Given the description of an element on the screen output the (x, y) to click on. 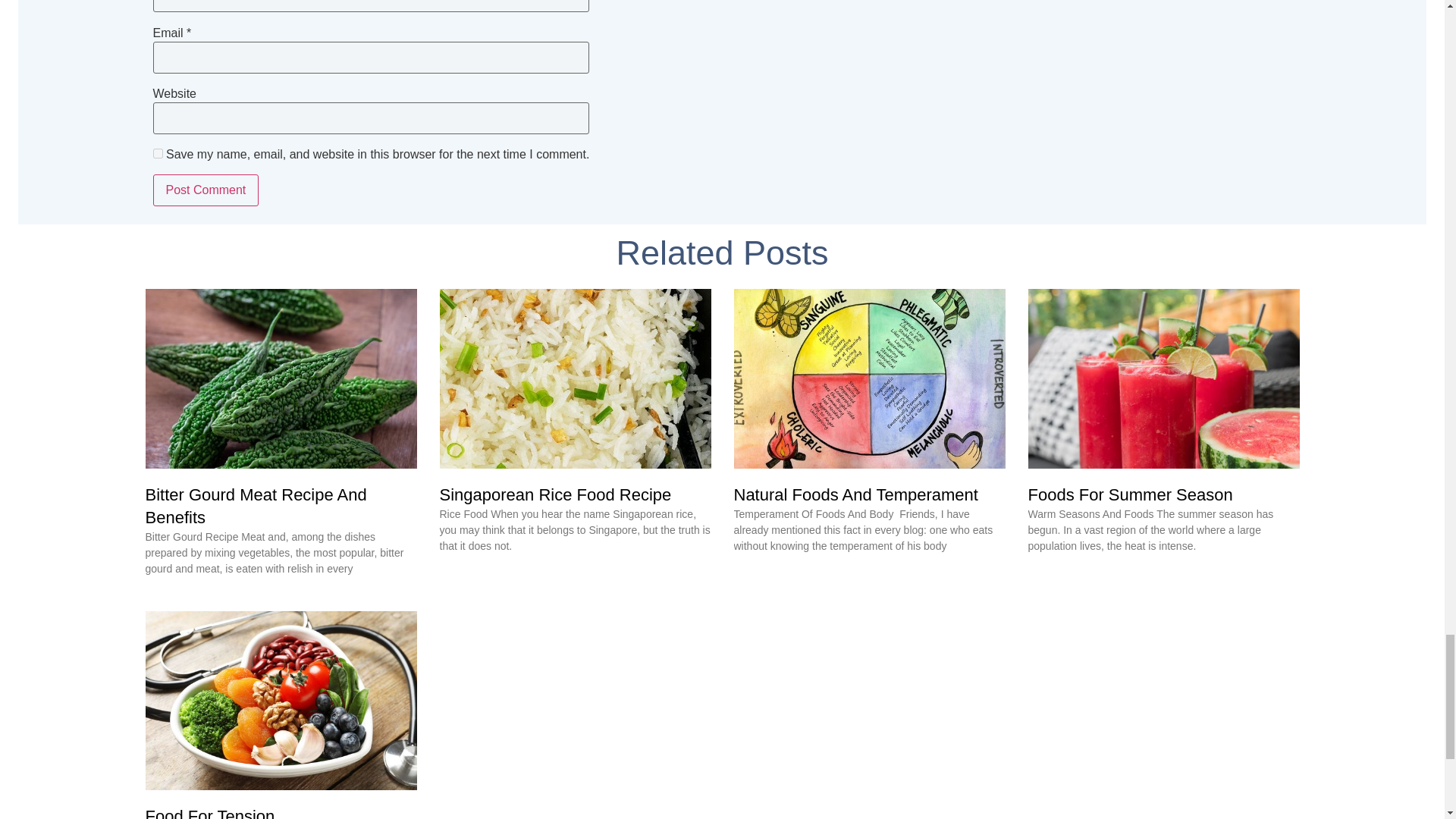
Post Comment (205, 190)
yes (157, 153)
Bitter Gourd Meat Recipe And Benefits (255, 506)
Food For Tension (210, 812)
Foods For Summer Season (1130, 494)
Post Comment (205, 190)
Singaporean Rice Food Recipe (555, 494)
Natural Foods And Temperament (855, 494)
